Given the description of an element on the screen output the (x, y) to click on. 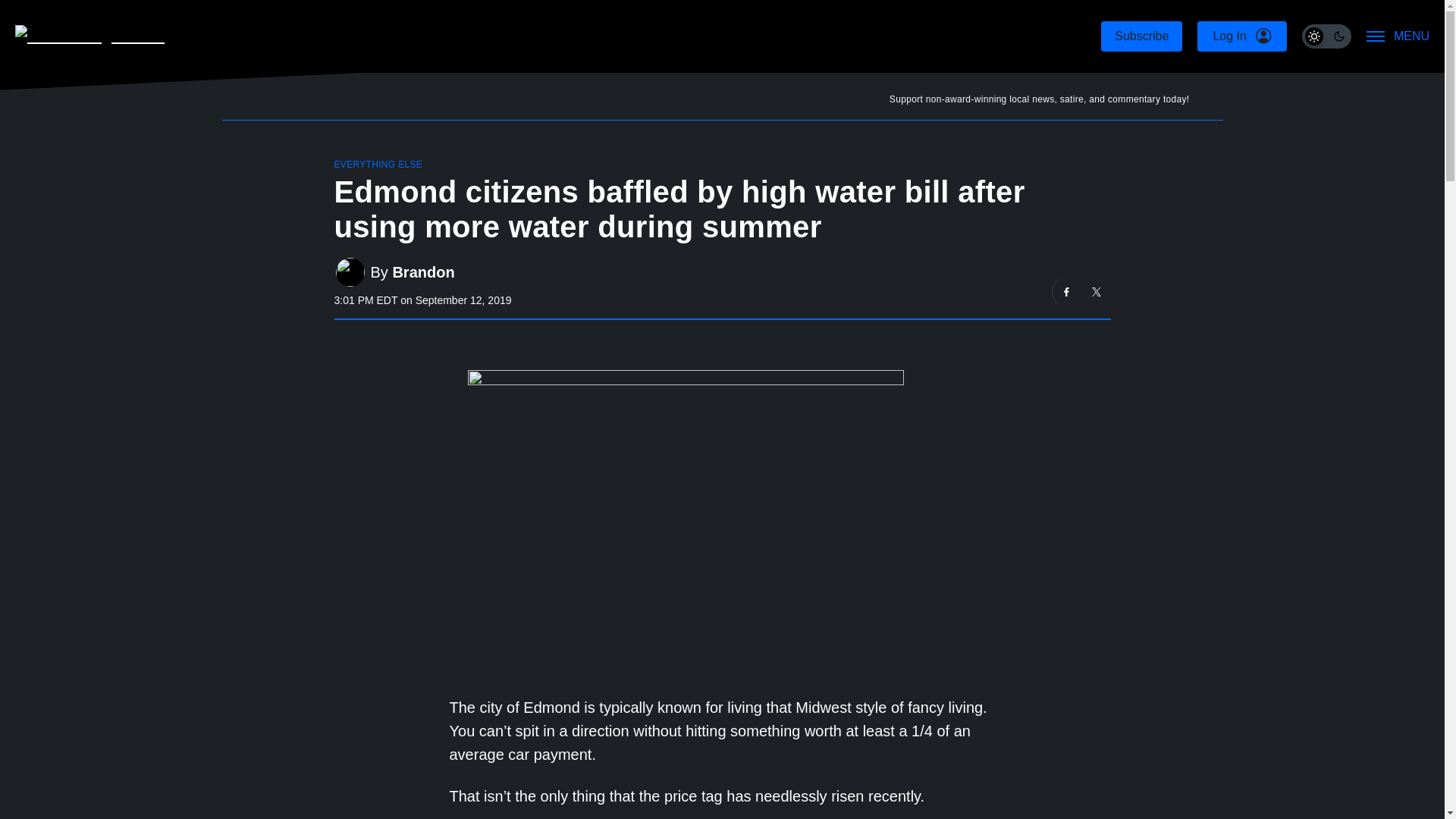
Subscribe (1141, 36)
Brandon (422, 272)
EVERYTHING ELSE (377, 163)
Log In (1240, 36)
MENU (1398, 36)
Share on Facebook (1066, 291)
